Given the description of an element on the screen output the (x, y) to click on. 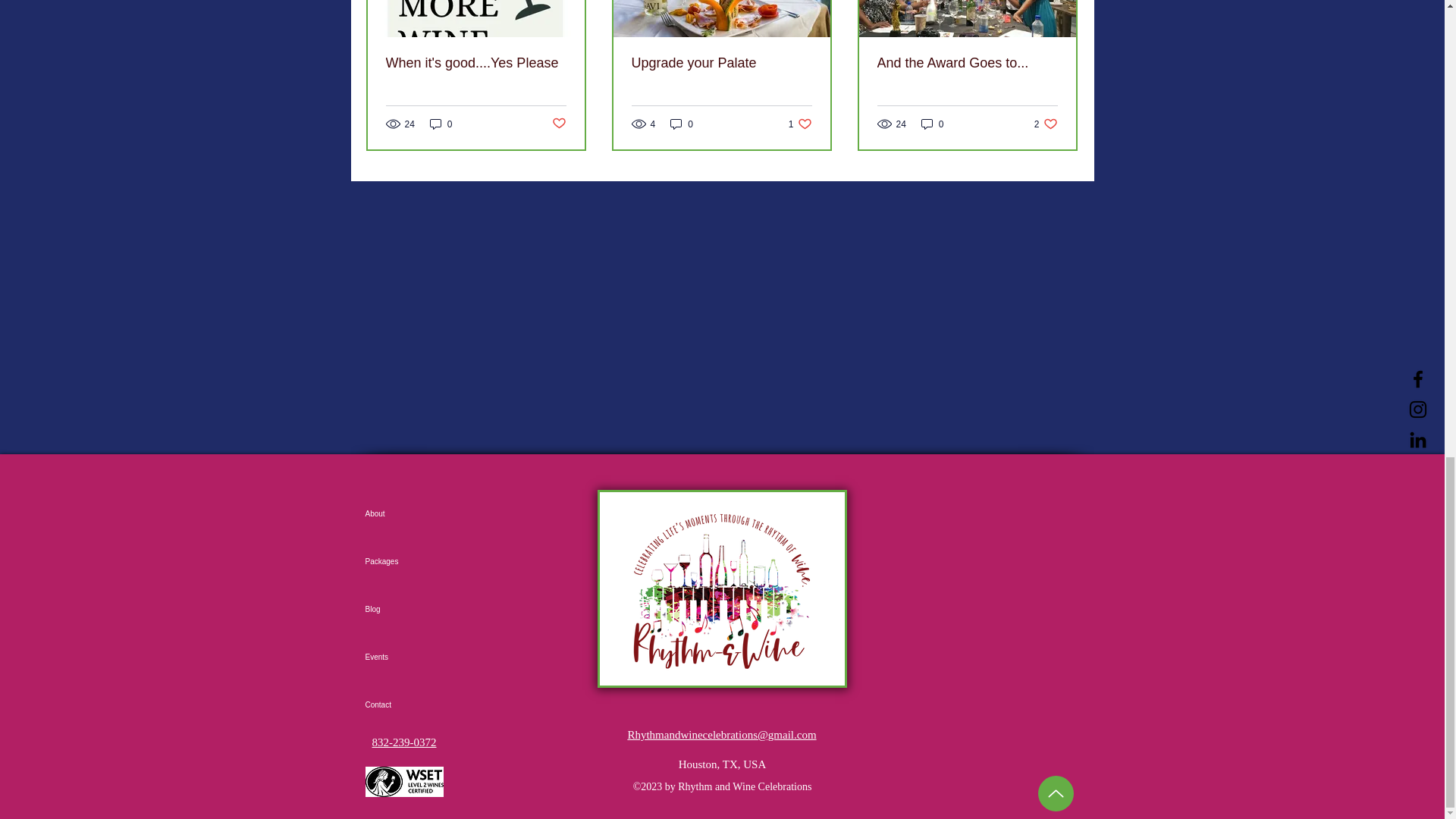
Events (418, 656)
And the Award Goes to... (966, 63)
0 (932, 124)
Packages (418, 561)
About (1045, 124)
Contact (418, 513)
Blog (418, 704)
Post not marked as liked (418, 609)
Upgrade your Palate (558, 123)
